Given the description of an element on the screen output the (x, y) to click on. 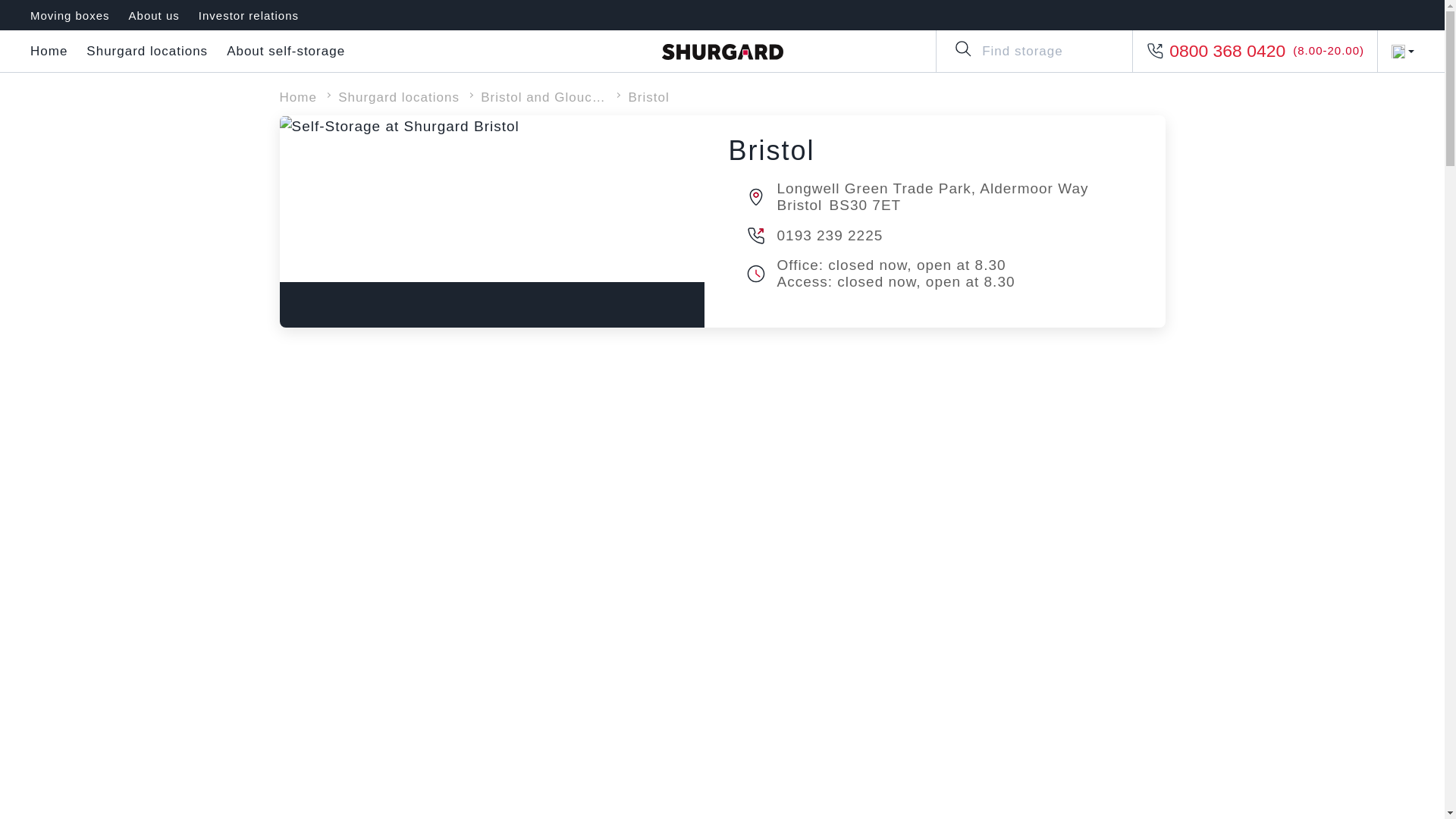
Moving boxes (70, 15)
Shurgard locations (146, 51)
About us (154, 15)
Investor relations (248, 15)
Office: closed now, open at 8.30 (955, 265)
About self-storage (286, 51)
Access: closed now, open at 8.30 (955, 281)
